Given the description of an element on the screen output the (x, y) to click on. 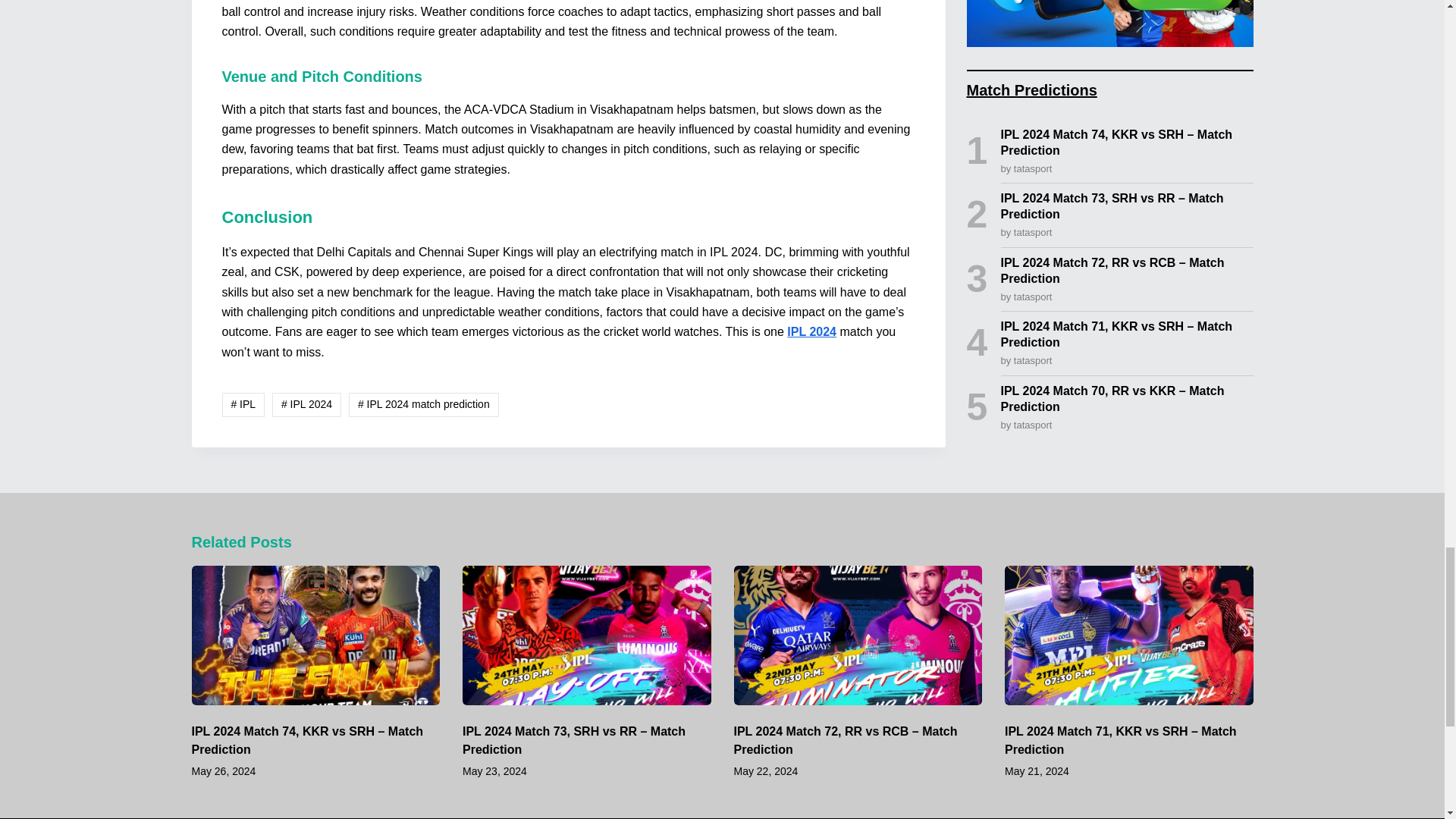
IPL 2024 (811, 331)
